Given the description of an element on the screen output the (x, y) to click on. 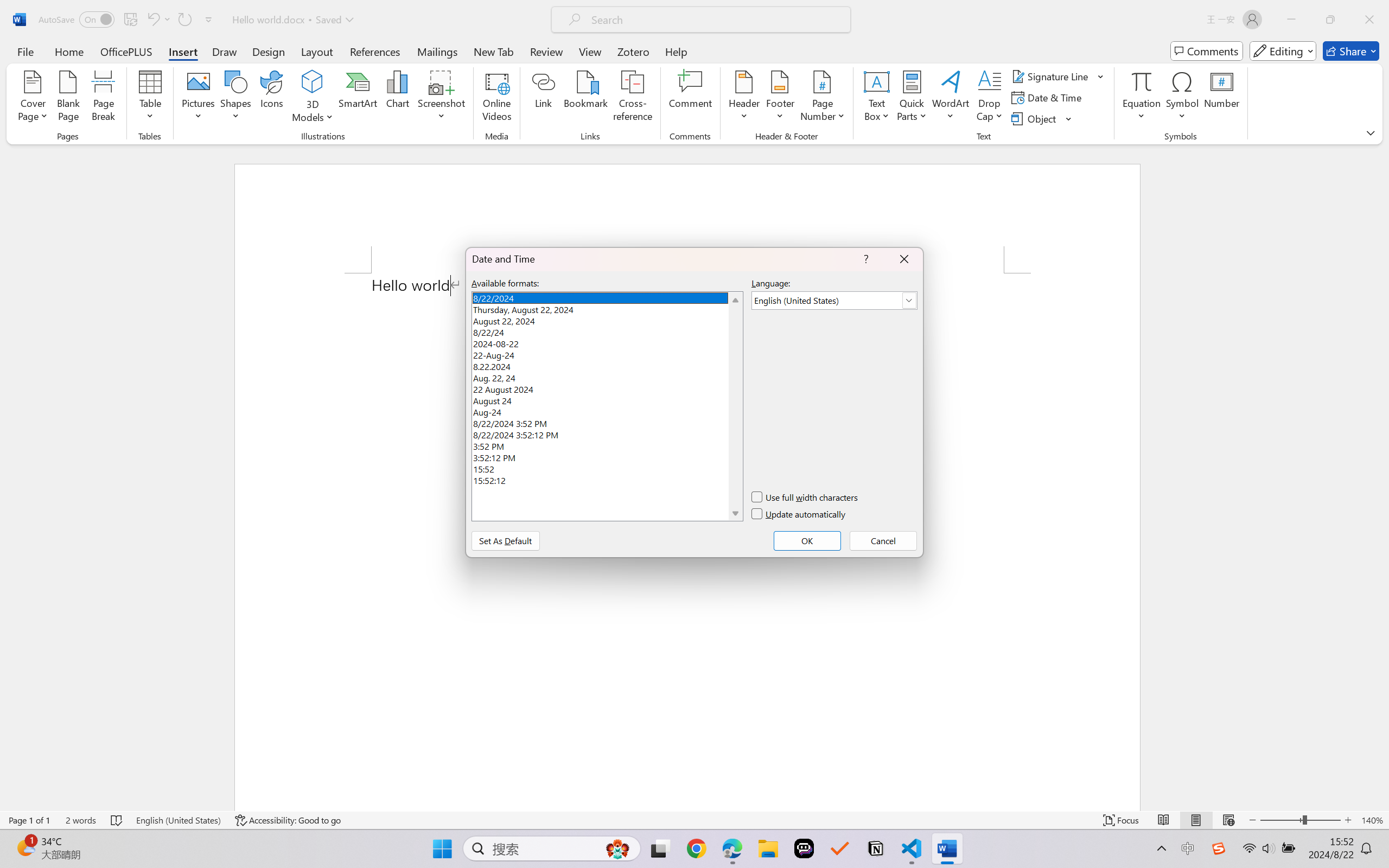
New Tab (493, 51)
Signature Line (1051, 75)
Read Mode (1163, 819)
8/22/2024 3:52 PM (606, 421)
Comments (1206, 50)
Layout (316, 51)
AutomationID: 17 (734, 405)
Microsoft search (715, 19)
Zoom In (1348, 819)
Accessibility Checker Accessibility: Good to go (288, 819)
Quick Parts (912, 97)
Online Videos... (496, 97)
